Given the description of an element on the screen output the (x, y) to click on. 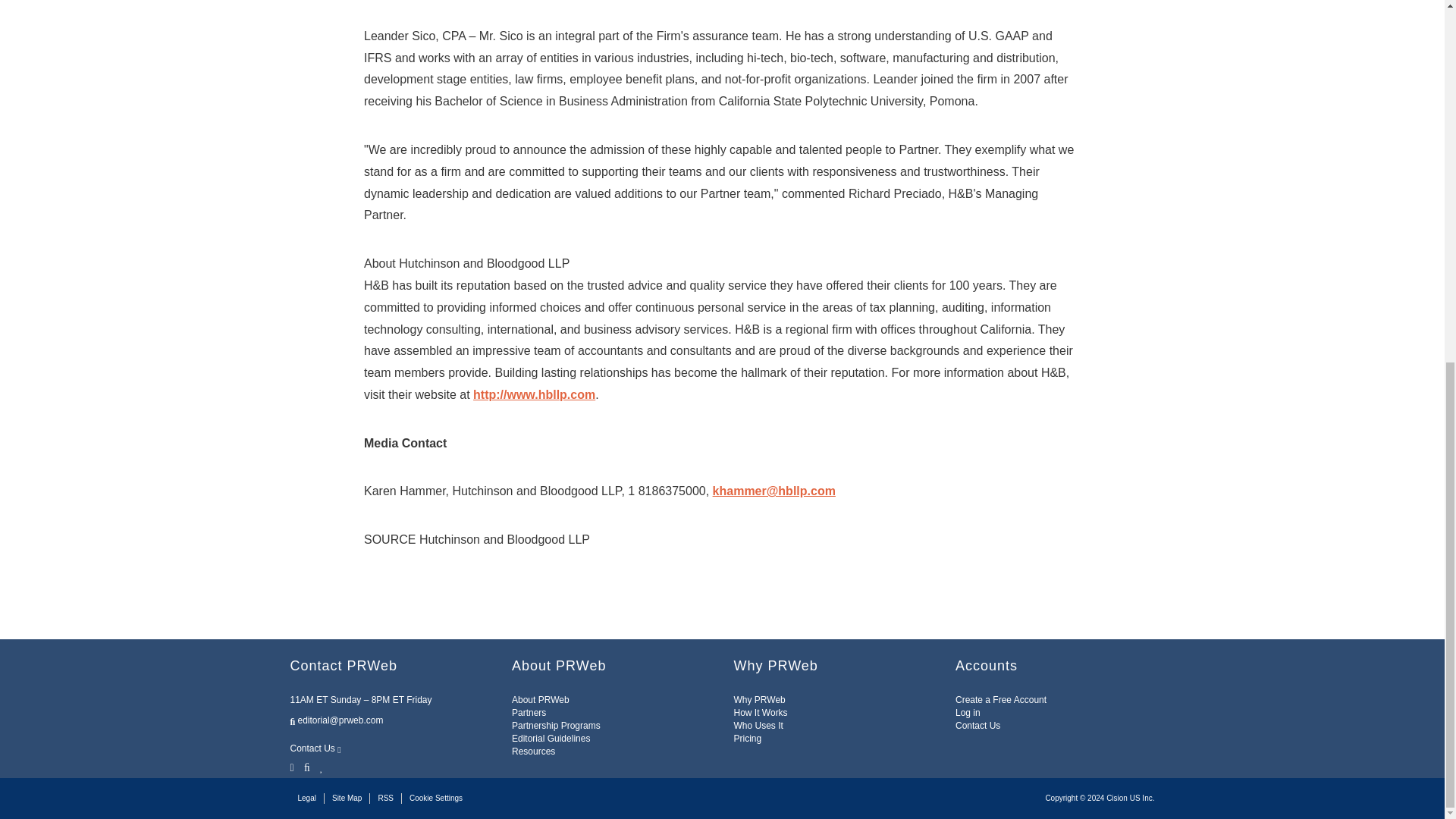
How It Works (760, 712)
Resources (533, 751)
Partners (529, 712)
About PRWeb (540, 699)
Editorial Guidelines (550, 738)
Why PRWeb (759, 699)
Facebook (306, 766)
Partnership Programs (555, 725)
